Given the description of an element on the screen output the (x, y) to click on. 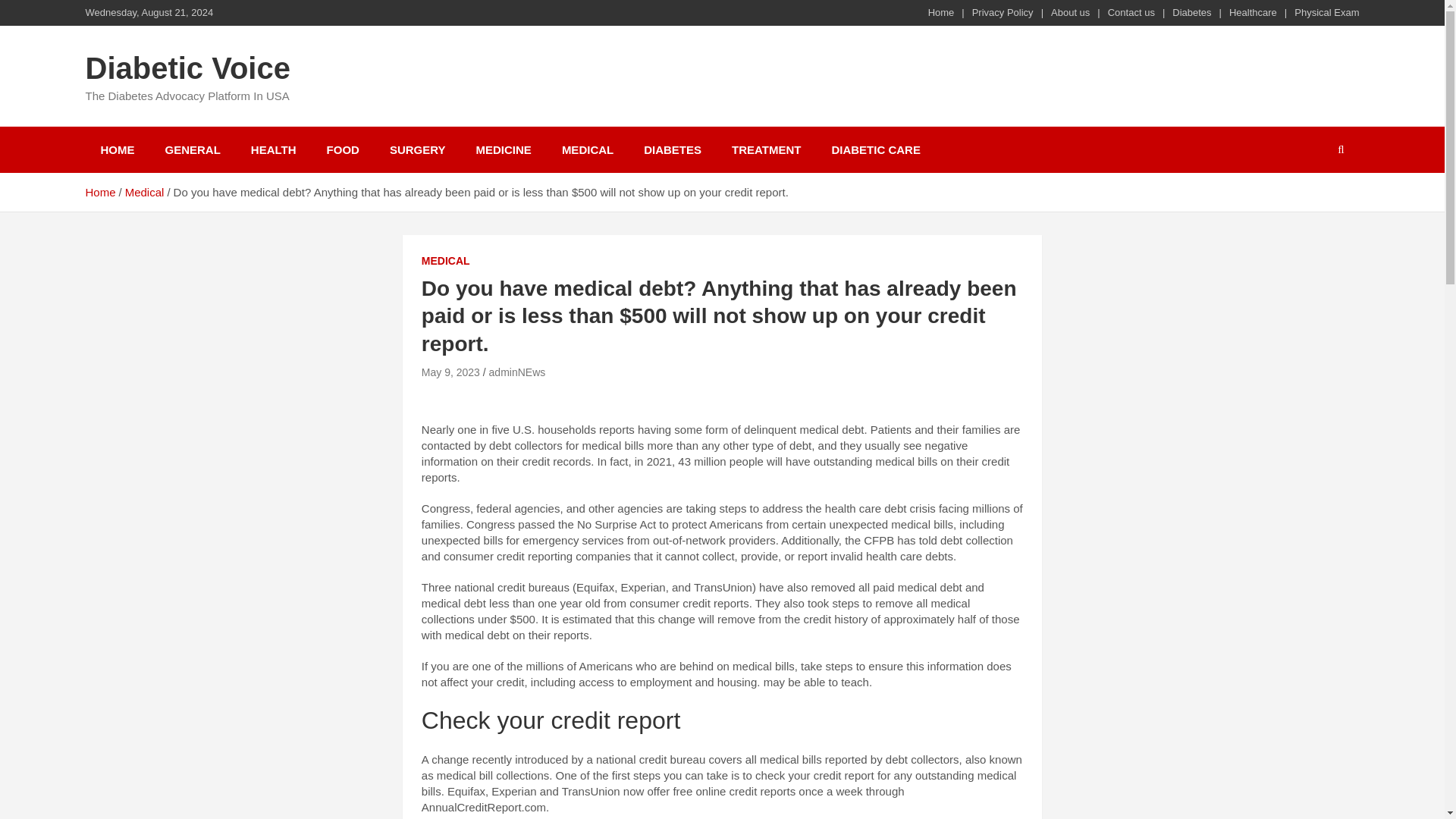
Privacy Policy (1002, 12)
SURGERY (417, 149)
About us (1070, 12)
GENERAL (192, 149)
DIABETES (672, 149)
MEDICINE (504, 149)
TREATMENT (765, 149)
FOOD (342, 149)
Healthcare (1252, 12)
MEDICAL (446, 261)
